Given the description of an element on the screen output the (x, y) to click on. 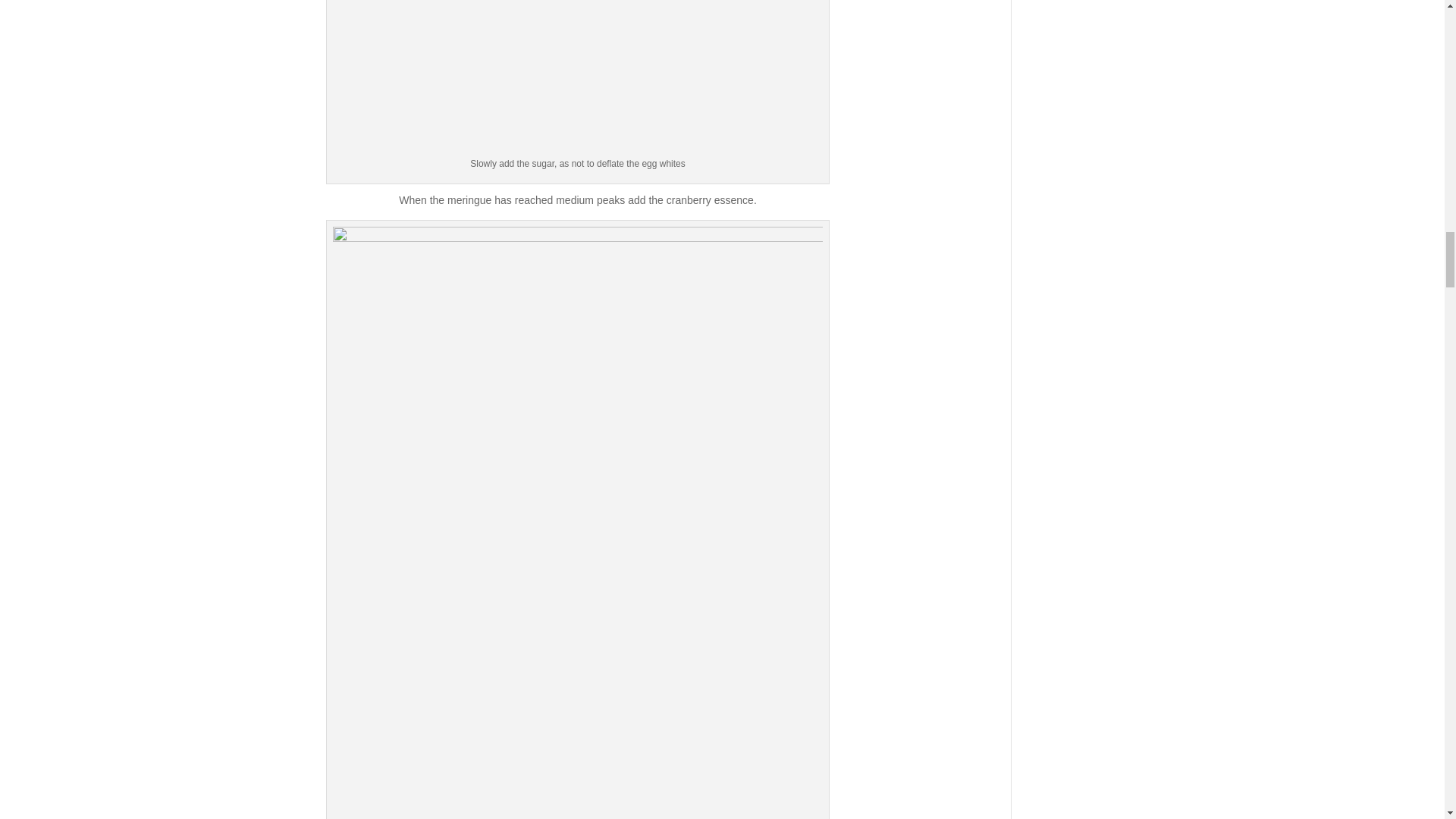
meringuesugar2191 (577, 77)
